Given the description of an element on the screen output the (x, y) to click on. 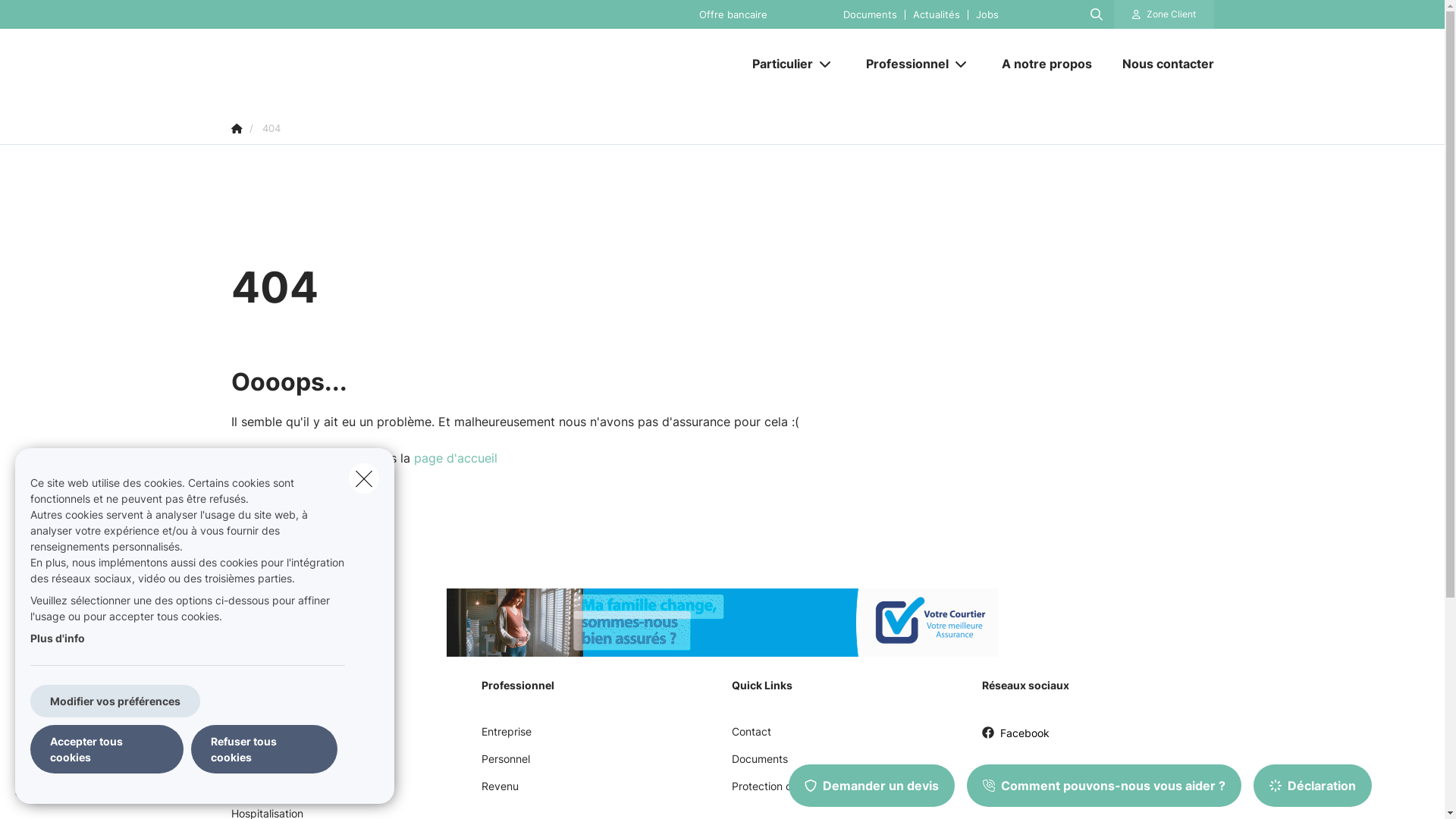
Rechercher Element type: text (54, 18)
Facebook Element type: text (1014, 738)
Protection du client Element type: text (779, 791)
Comment pouvons-nous vous aider ? Element type: text (1103, 785)
Personnel Element type: text (504, 764)
Revenu Element type: text (498, 791)
Zone Client Element type: text (1163, 14)
Plus d'info Element type: text (57, 637)
Particulier Element type: text (776, 63)
Habitation Element type: text (255, 764)
Jobs Element type: text (986, 13)
Famille et protection juridique Element type: text (303, 791)
A notre propos Element type: text (1045, 63)
Entreprise Element type: text (505, 736)
Contact Element type: text (750, 736)
page d'accueil Element type: text (455, 457)
Offre bancaire Element type: text (733, 13)
Refuser tous cookies Element type: text (264, 748)
Documents Element type: text (759, 764)
Documents Element type: text (869, 13)
Professionnel Element type: text (901, 63)
Accepter tous cookies Element type: text (106, 748)
Nous contacter Element type: text (1160, 63)
Demander un devis Element type: text (871, 785)
